Given the description of an element on the screen output the (x, y) to click on. 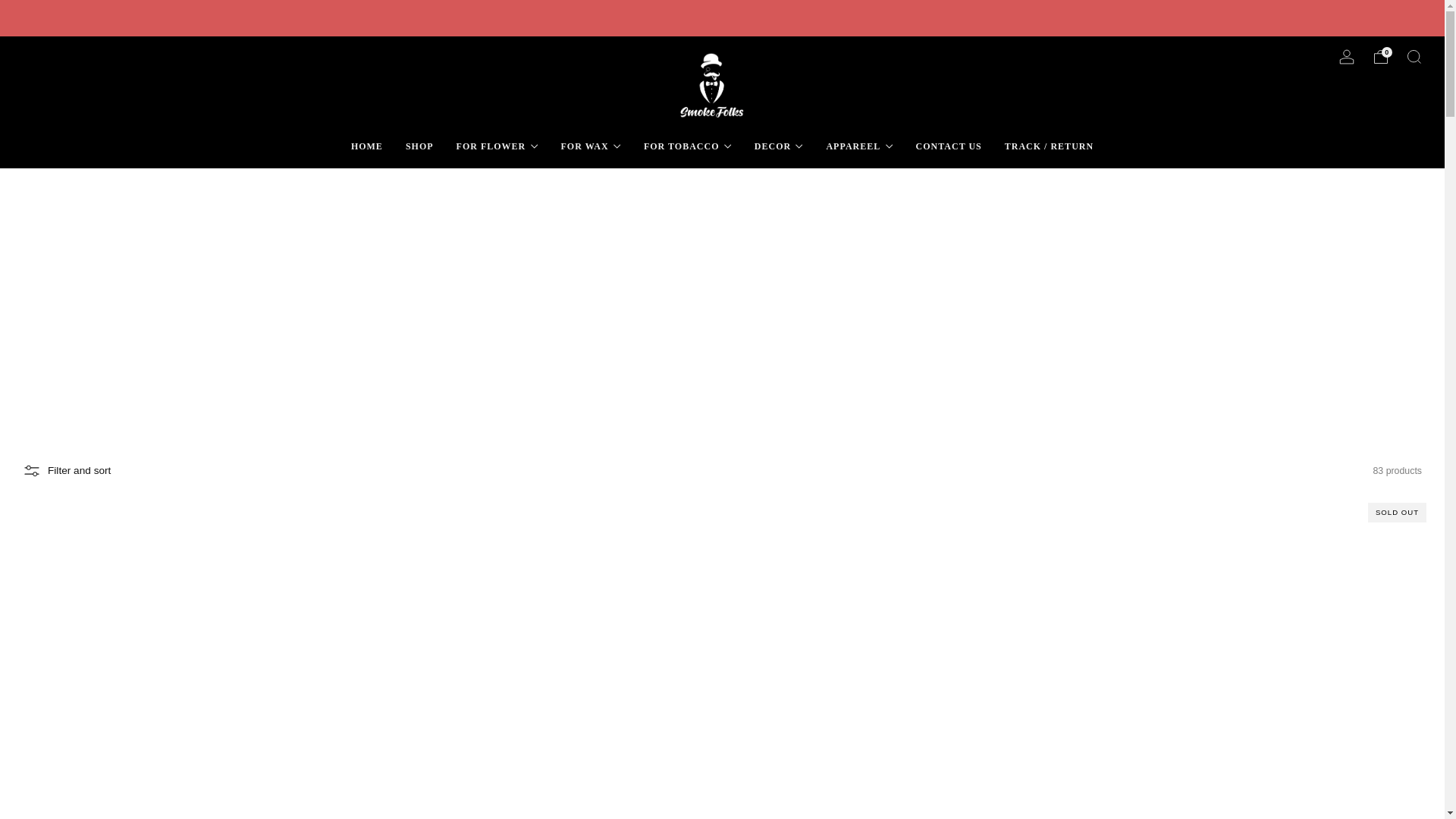
FOR FLOWER (497, 146)
SHOP (419, 146)
HOME (366, 146)
FOR WAX (590, 146)
